Given the description of an element on the screen output the (x, y) to click on. 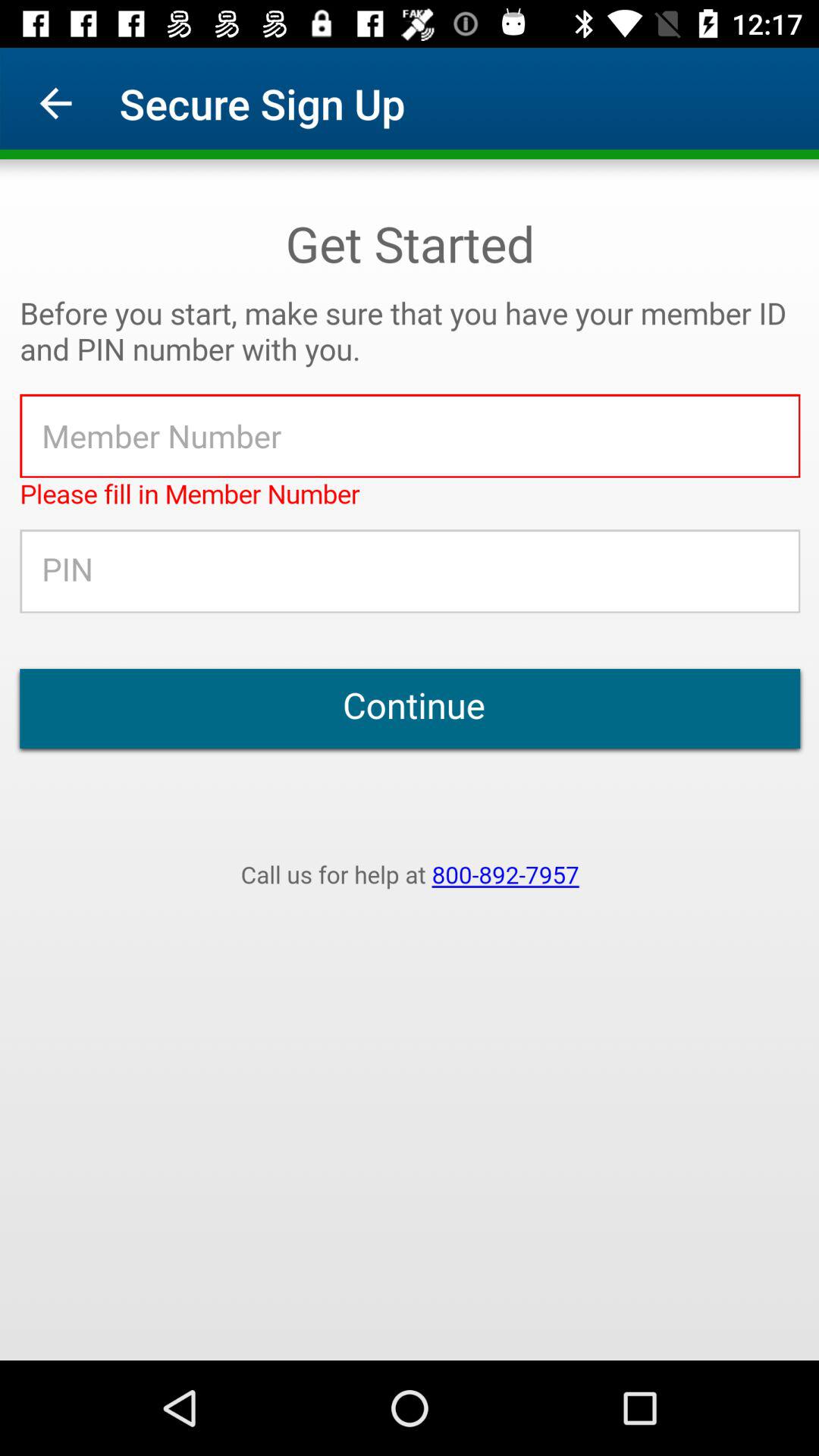
click item next to the secure sign up icon (55, 103)
